Given the description of an element on the screen output the (x, y) to click on. 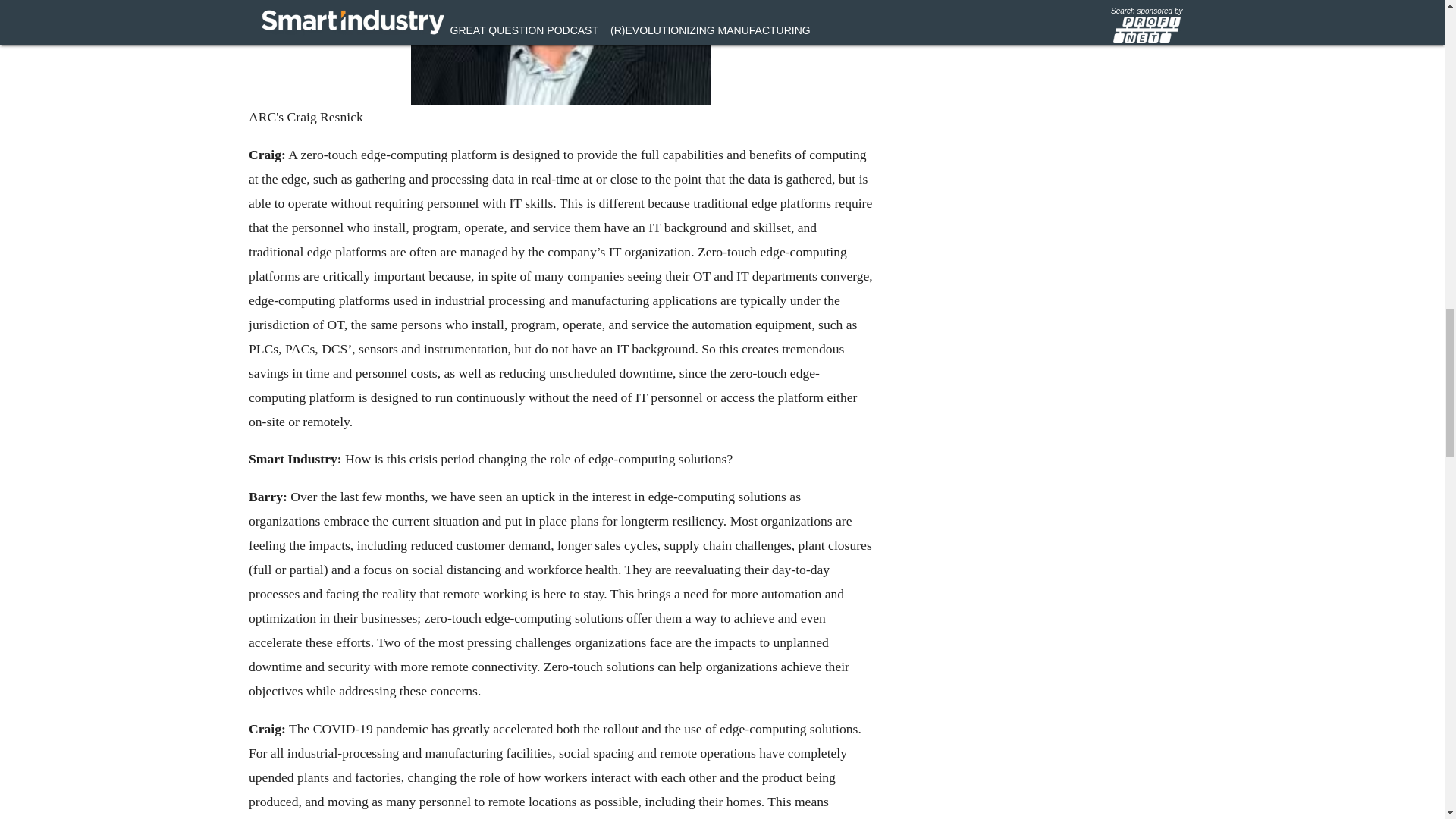
cresnick-414x472 (560, 52)
